Given the description of an element on the screen output the (x, y) to click on. 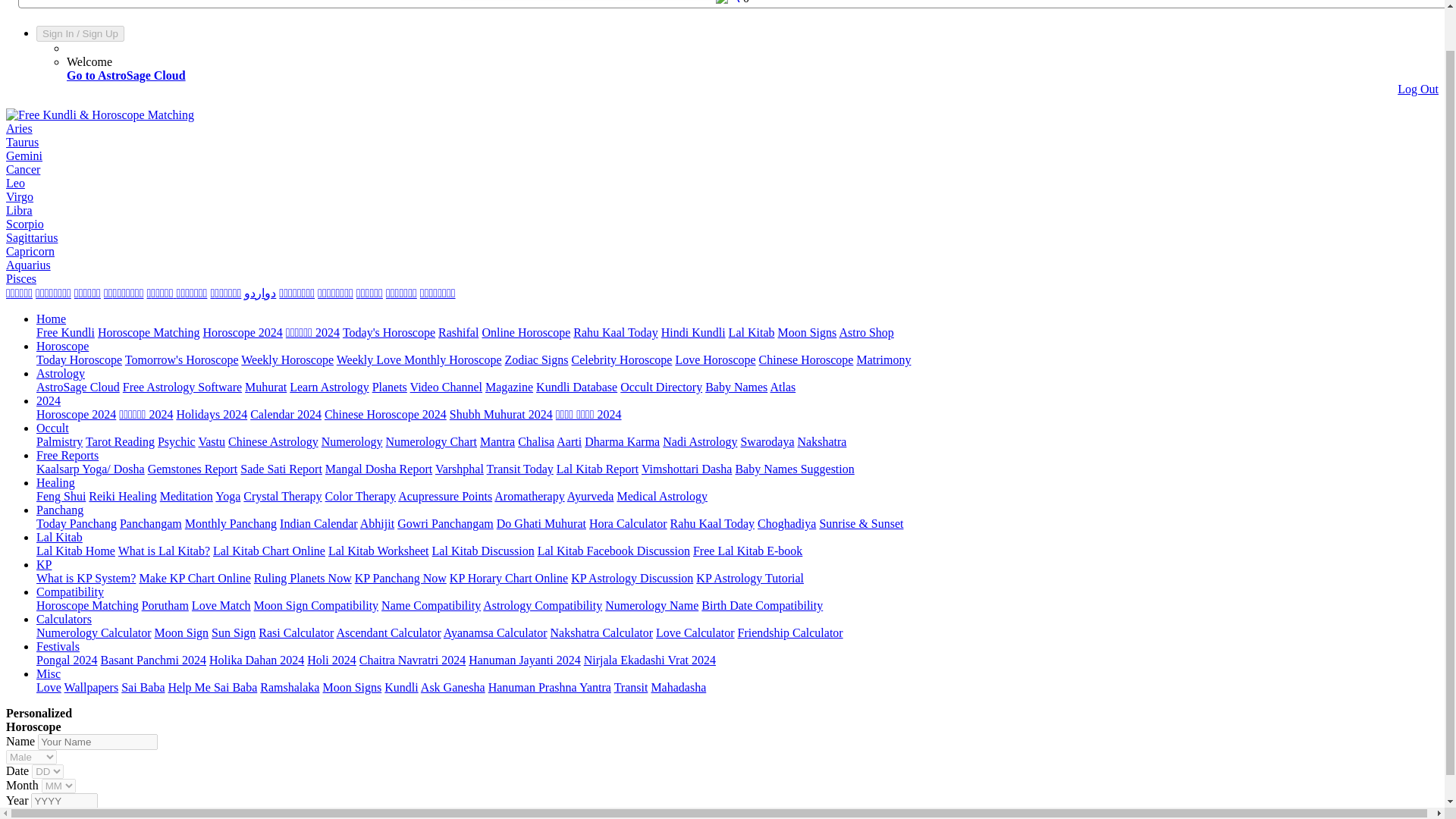
Aquarius (27, 264)
Gujarati (123, 292)
Odia (369, 292)
Aries (18, 128)
Kannada (87, 292)
Virgo (19, 196)
Sign In (58, 33)
Scorpio (24, 223)
Cancer (22, 169)
Sign Up (99, 33)
Pisces (20, 278)
Assamese (400, 292)
Get your daily rashifal in hindi (458, 332)
Malayalam (225, 292)
Leo (14, 182)
